Given the description of an element on the screen output the (x, y) to click on. 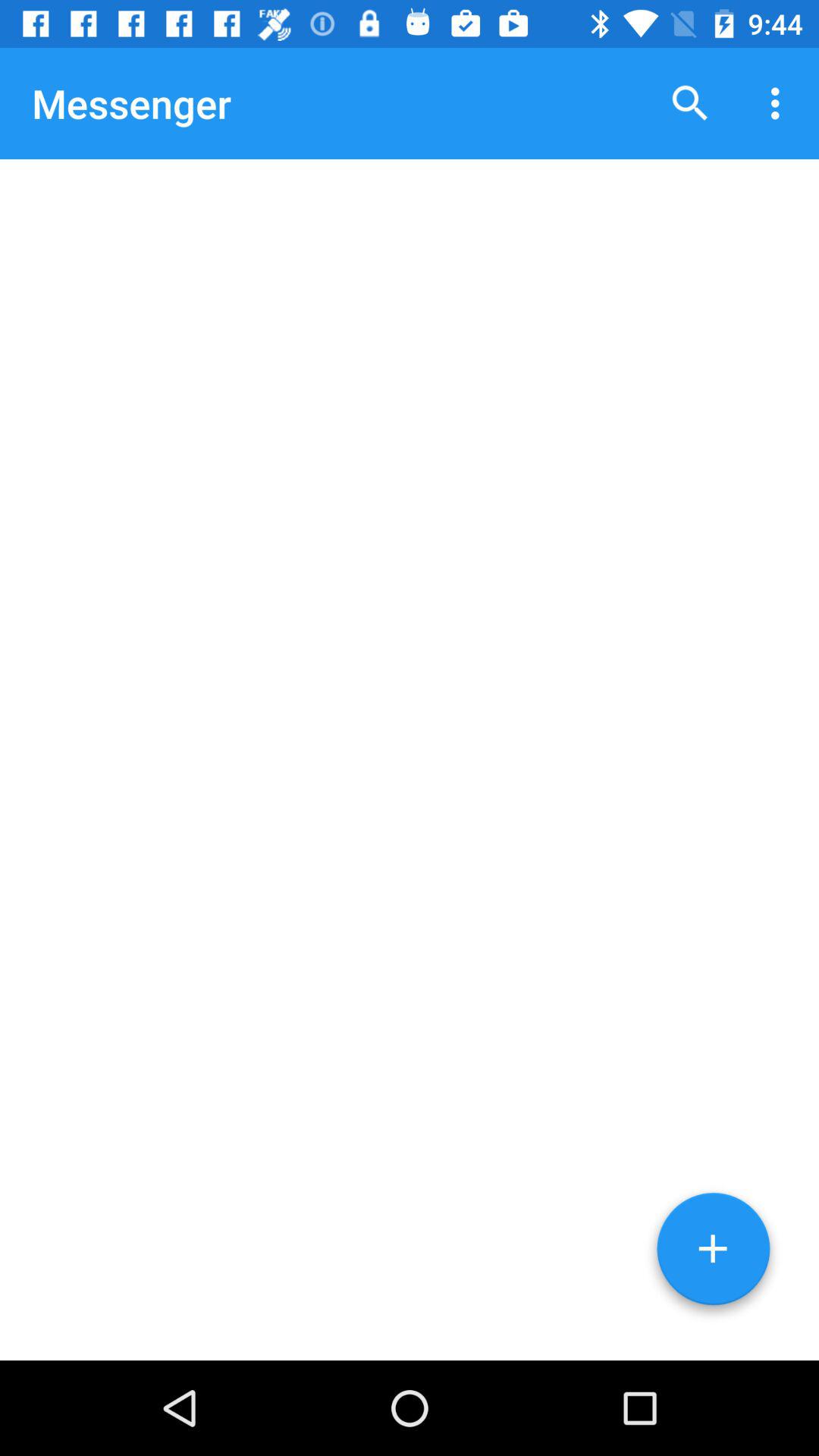
start a new conversation (713, 1254)
